Given the description of an element on the screen output the (x, y) to click on. 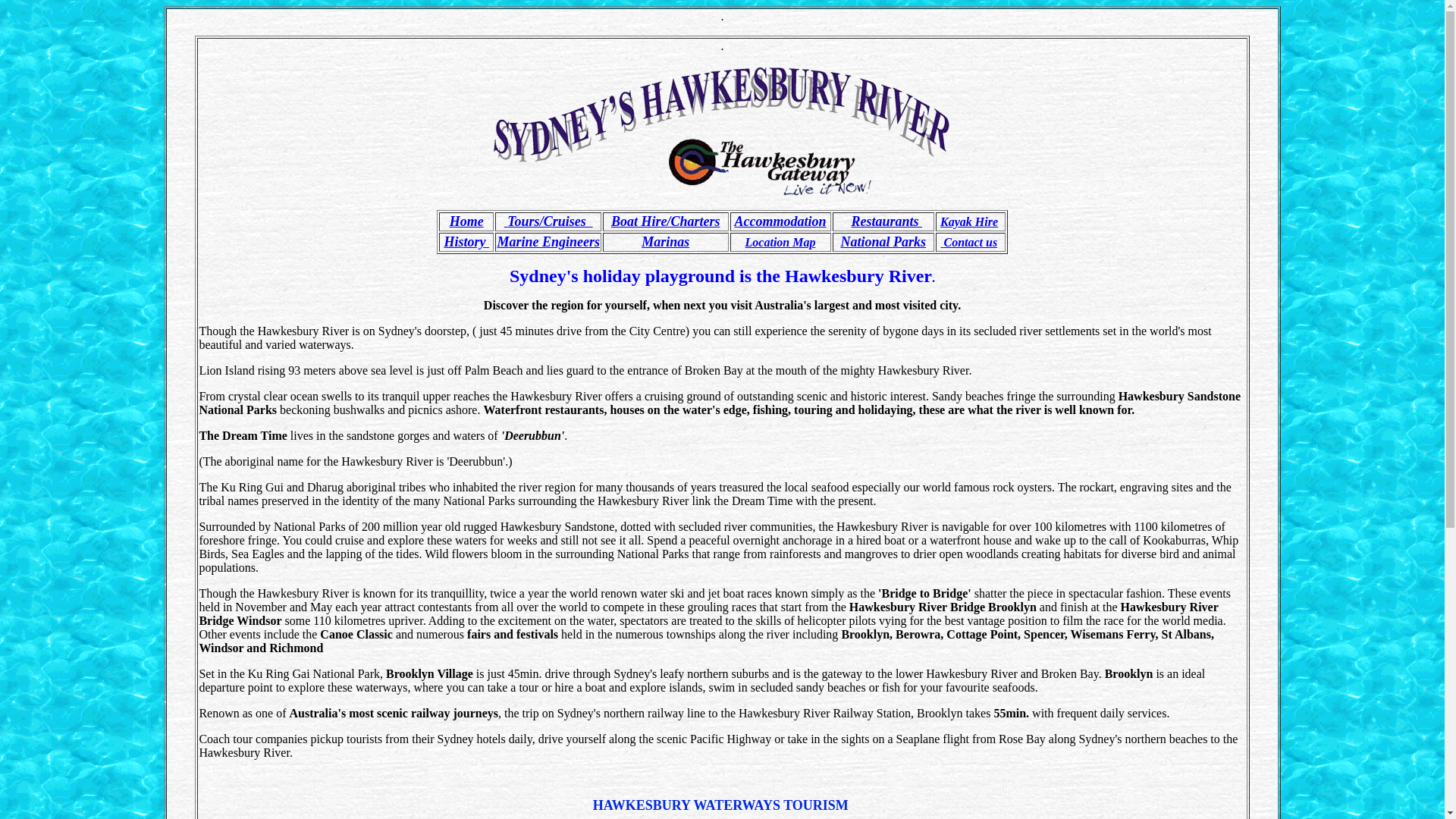
Restaurants  Element type: text (886, 221)
History Element type: text (466, 241)
Kayak Hire Element type: text (968, 221)
Marinas Element type: text (665, 241)
Location Map Element type: text (780, 241)
Home Element type: text (466, 221)
Boat Hire/Charters Element type: text (665, 221)
Marine Engineers Element type: text (547, 241)
Accommodation Element type: text (780, 221)
Tours/Cruises   Element type: text (549, 221)
  Element type: text (506, 221)
National Parks Element type: text (883, 241)
 Contact us Element type: text (968, 241)
